Given the description of an element on the screen output the (x, y) to click on. 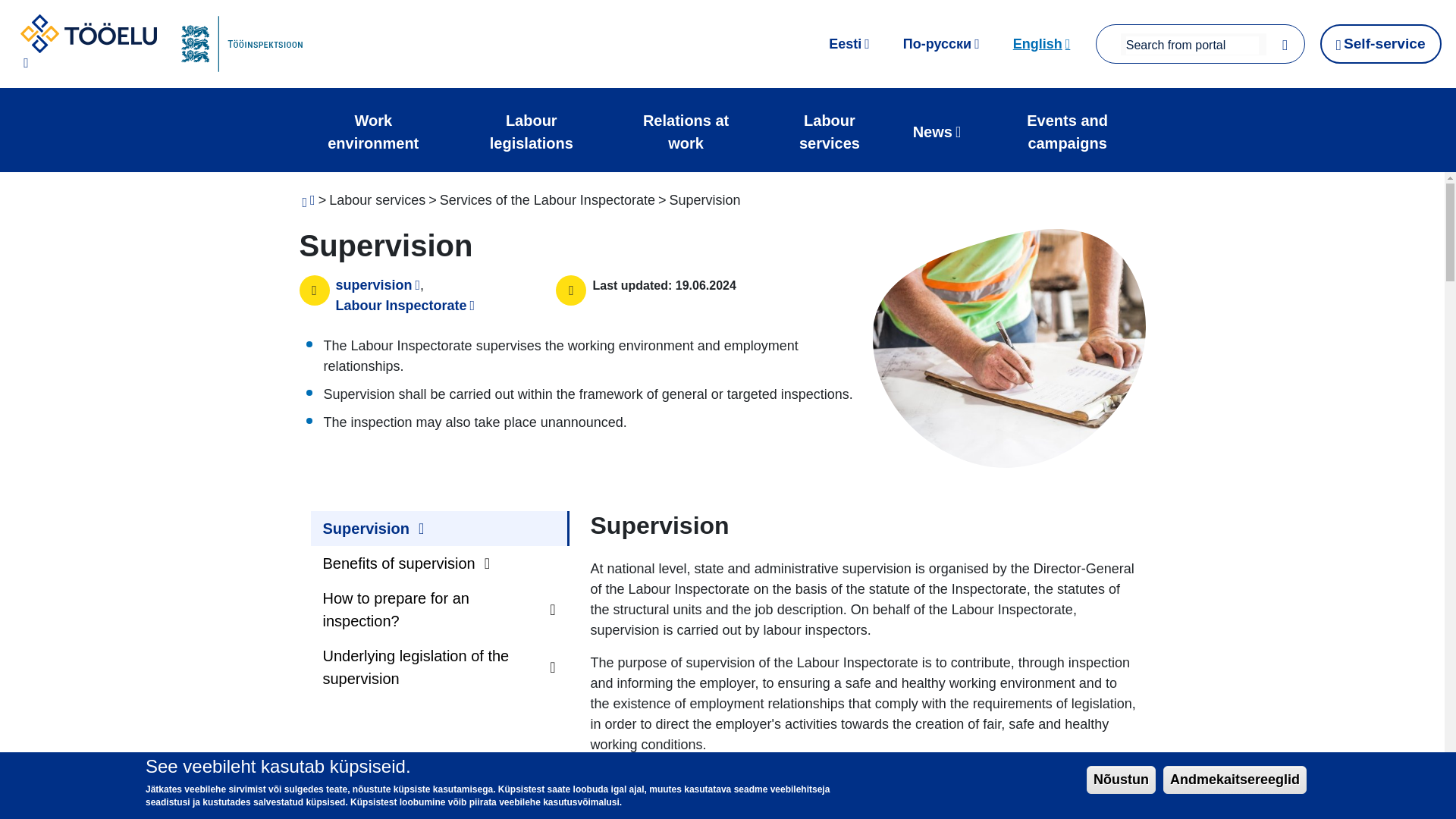
Work environment (373, 131)
Self-service (1380, 43)
English (1042, 43)
Home page (88, 43)
Search (1285, 44)
Eesti (849, 43)
